Given the description of an element on the screen output the (x, y) to click on. 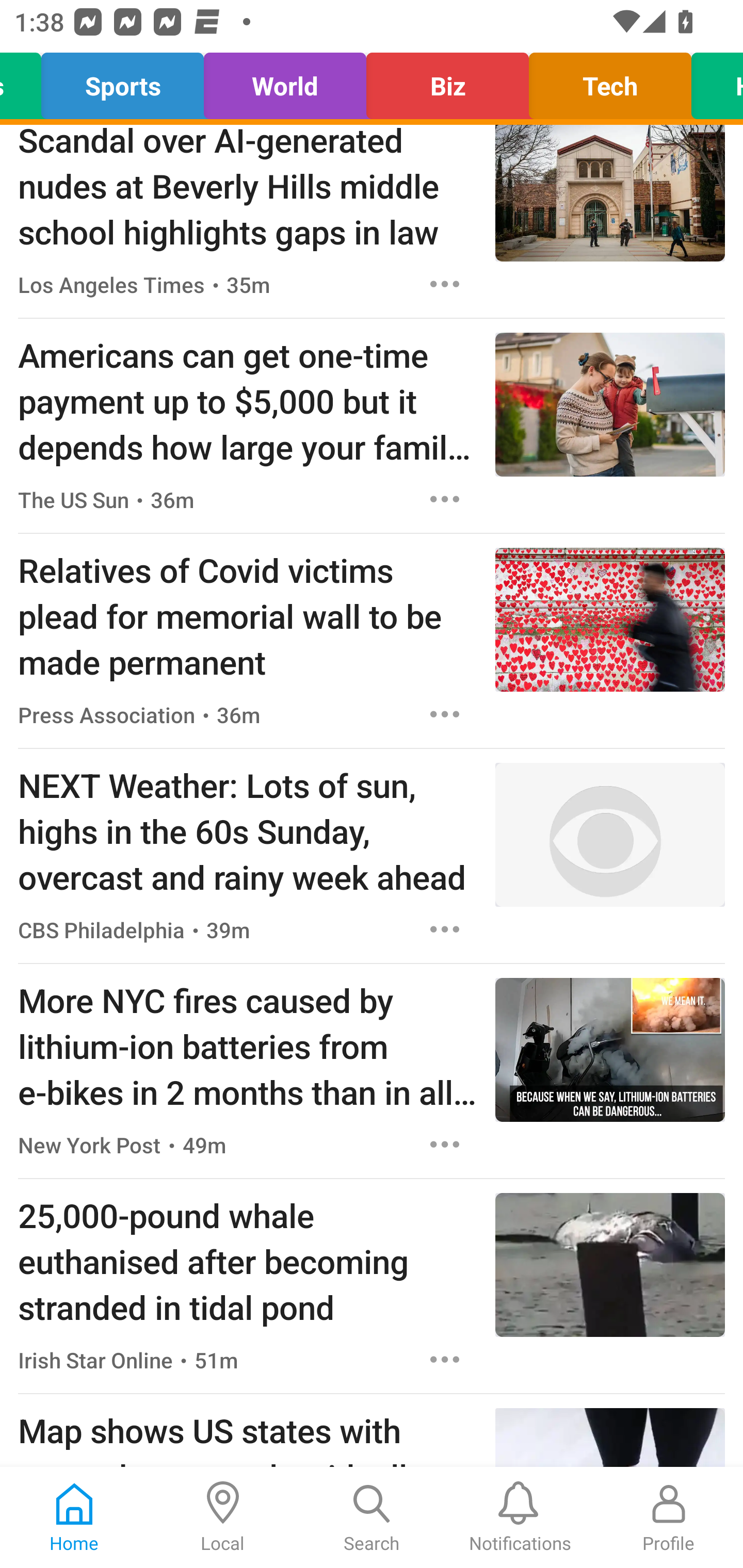
Sports (122, 81)
World (285, 81)
Biz (447, 81)
Tech (609, 81)
Options (444, 283)
Options (444, 499)
Options (444, 714)
Options (444, 929)
Options (444, 1144)
Options (444, 1359)
Local (222, 1517)
Search (371, 1517)
Notifications (519, 1517)
Profile (668, 1517)
